Given the description of an element on the screen output the (x, y) to click on. 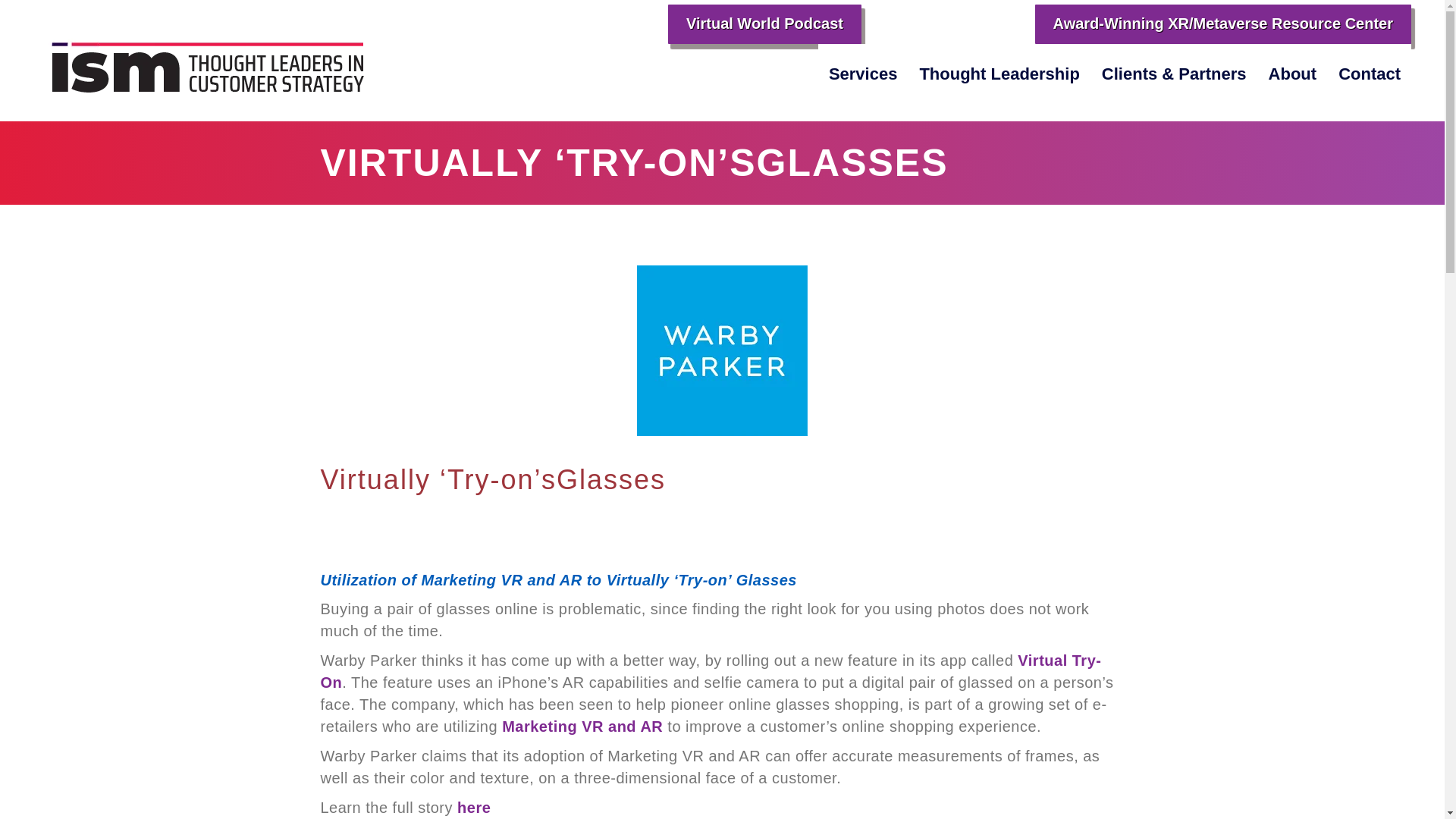
Thought Leadership (998, 74)
Virtual Try-On (710, 671)
Virtual World Podcast (764, 24)
About (1292, 74)
logo (198, 54)
Services (863, 74)
Warby Parker (722, 350)
Contact (1368, 74)
Marketing VR and AR (582, 726)
here (473, 807)
